Given the description of an element on the screen output the (x, y) to click on. 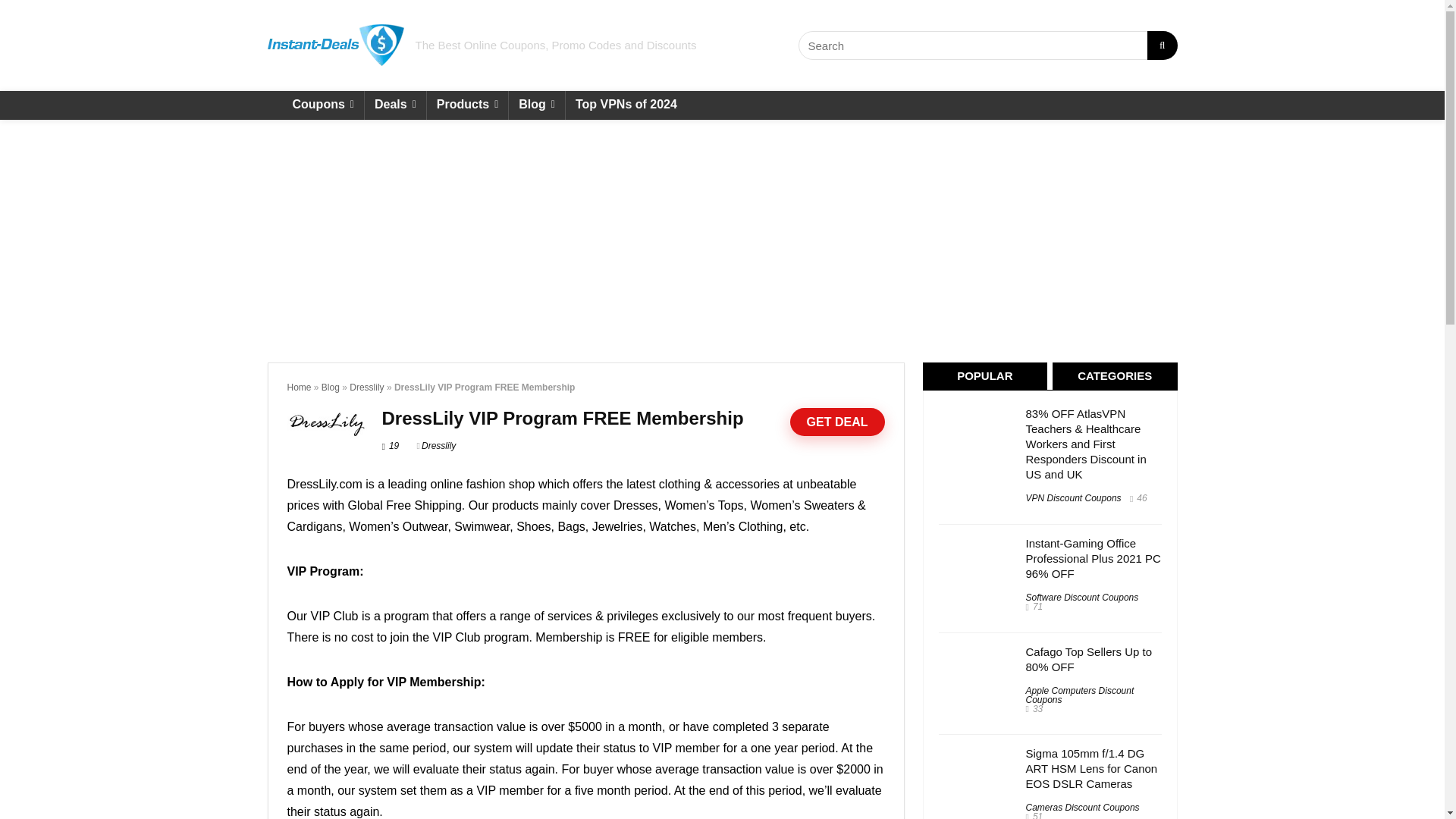
Deals (395, 104)
Coupons (322, 104)
Products (467, 104)
